Given the description of an element on the screen output the (x, y) to click on. 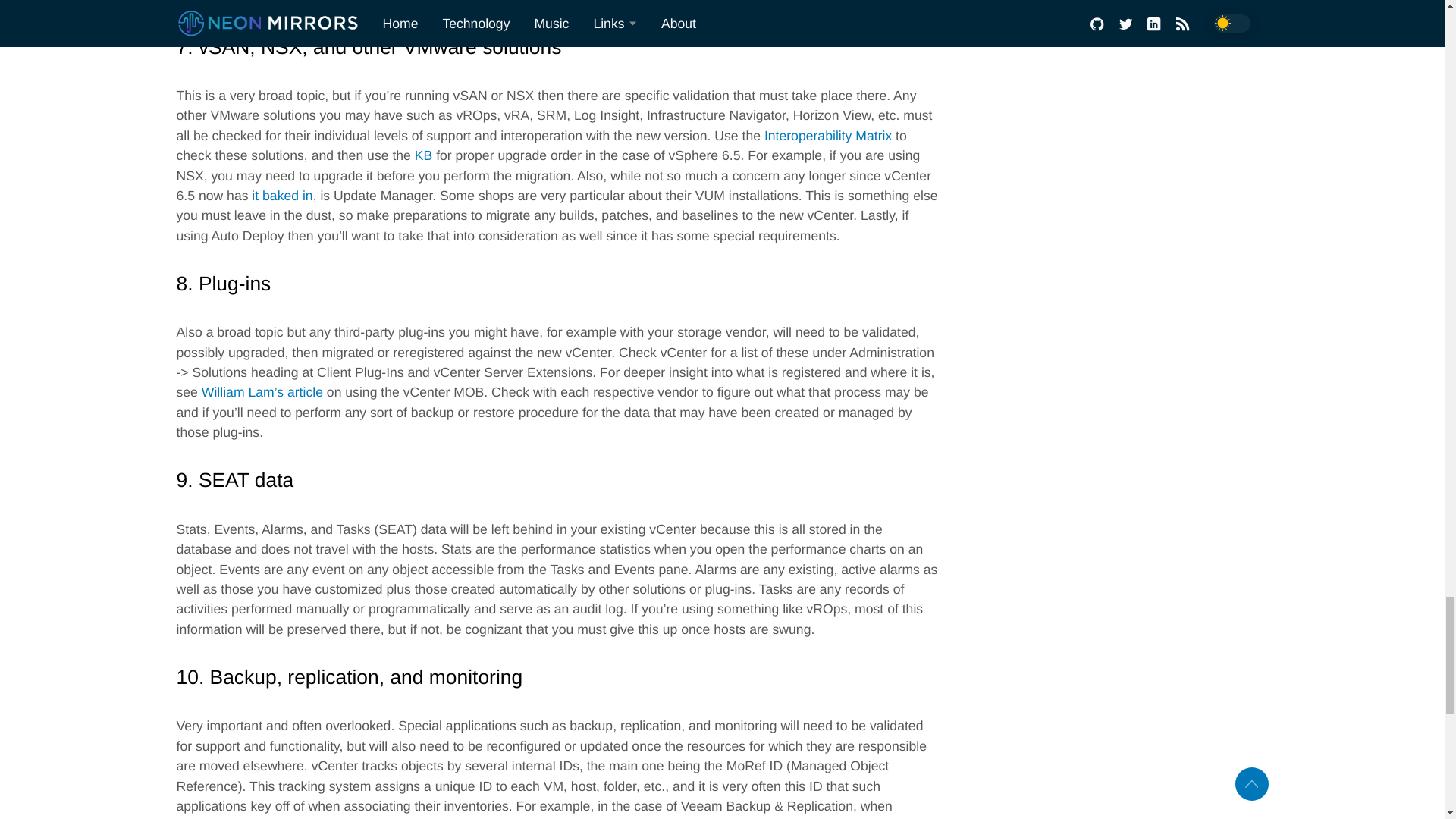
Interoperability Matrix (827, 135)
KB (423, 155)
it baked in (282, 195)
